Given the description of an element on the screen output the (x, y) to click on. 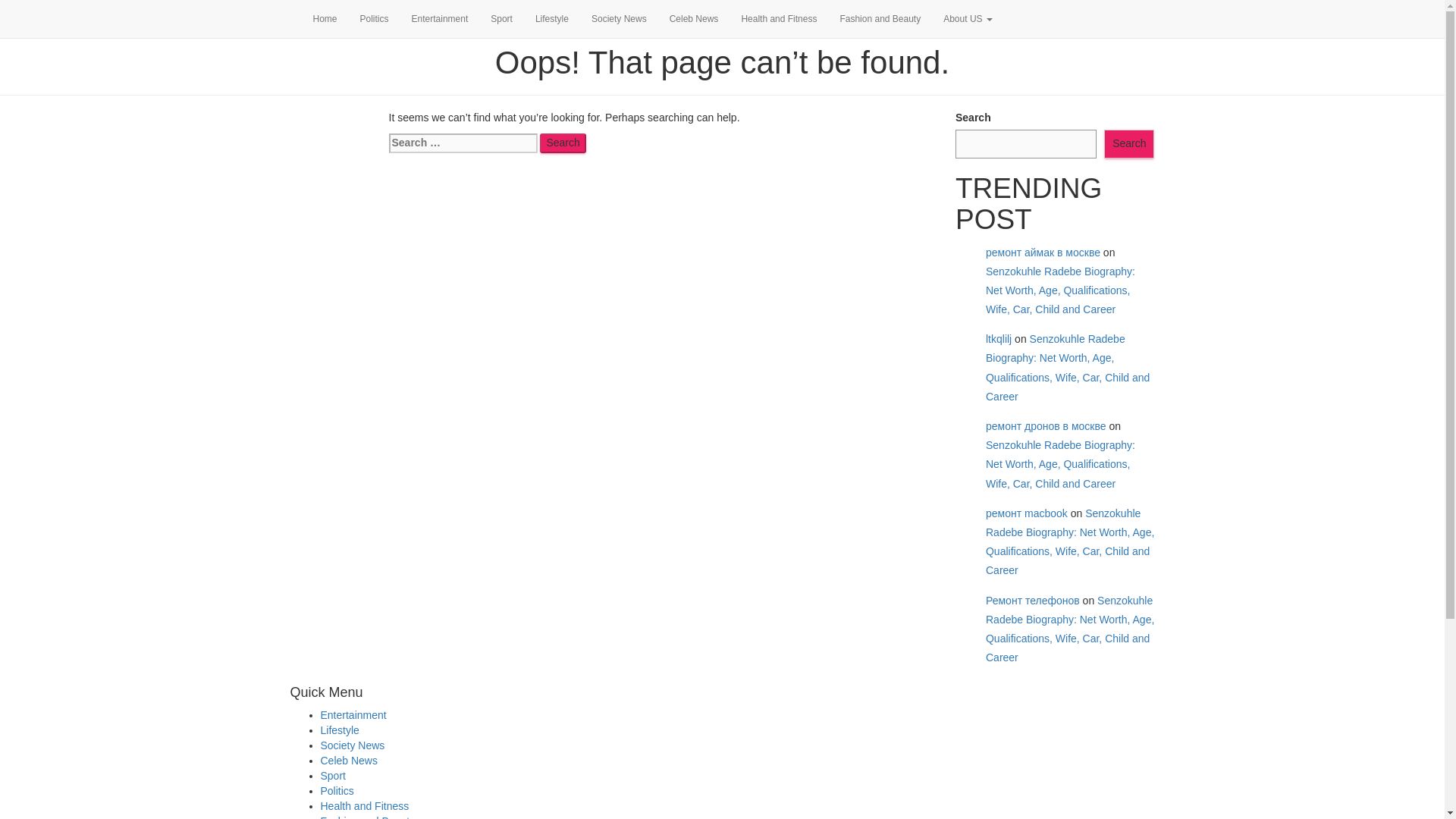
Home (325, 18)
ltkqlilj (998, 338)
Health and Fitness (778, 18)
Celeb News (348, 760)
Search (562, 143)
Lifestyle (339, 729)
Society News (618, 18)
Society News (352, 745)
